Given the description of an element on the screen output the (x, y) to click on. 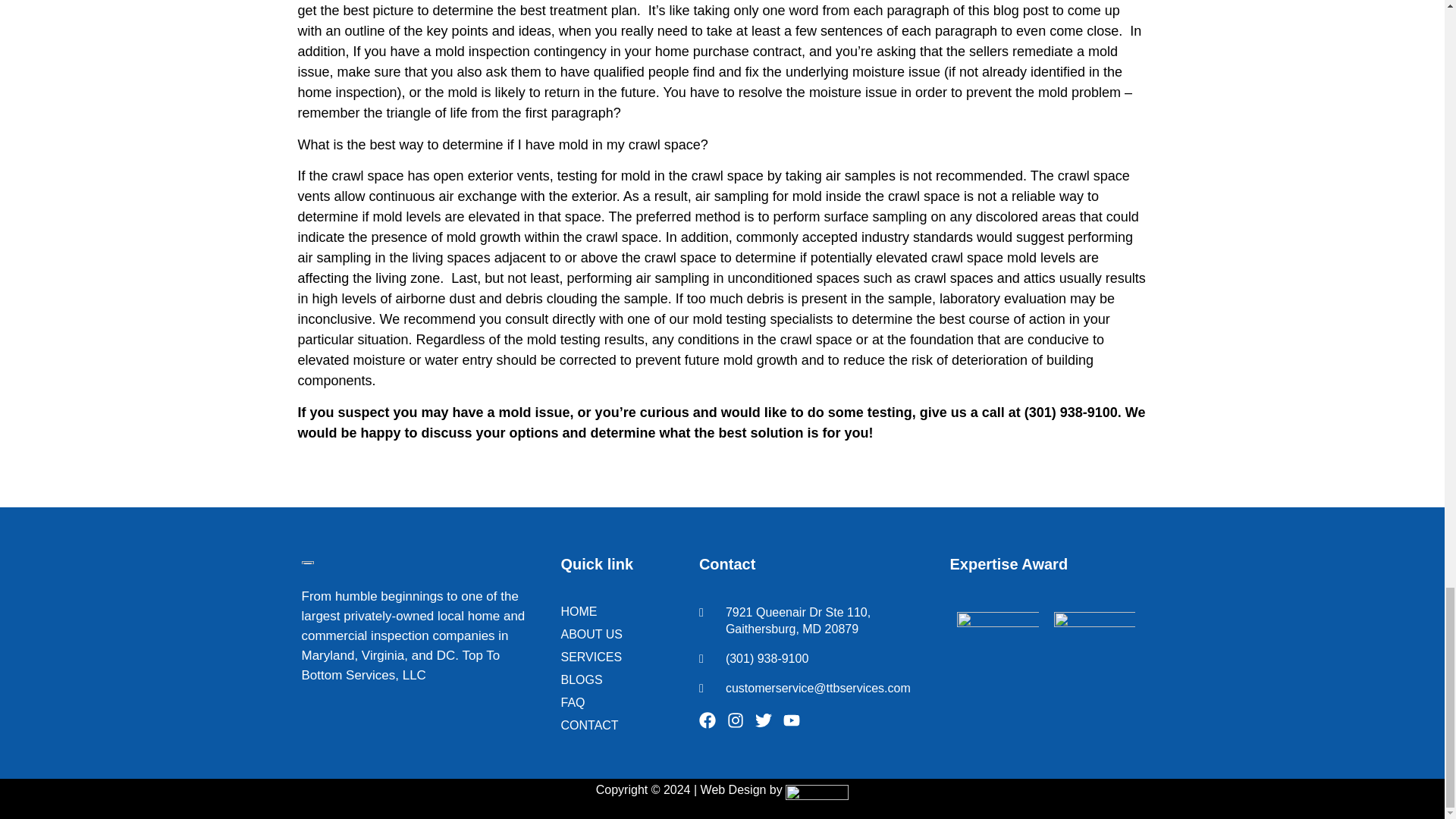
ABOUT US (618, 634)
BLOGS (618, 679)
SERVICES (618, 657)
CONTACT (618, 725)
FAQ (618, 702)
HOME (618, 611)
